Given the description of an element on the screen output the (x, y) to click on. 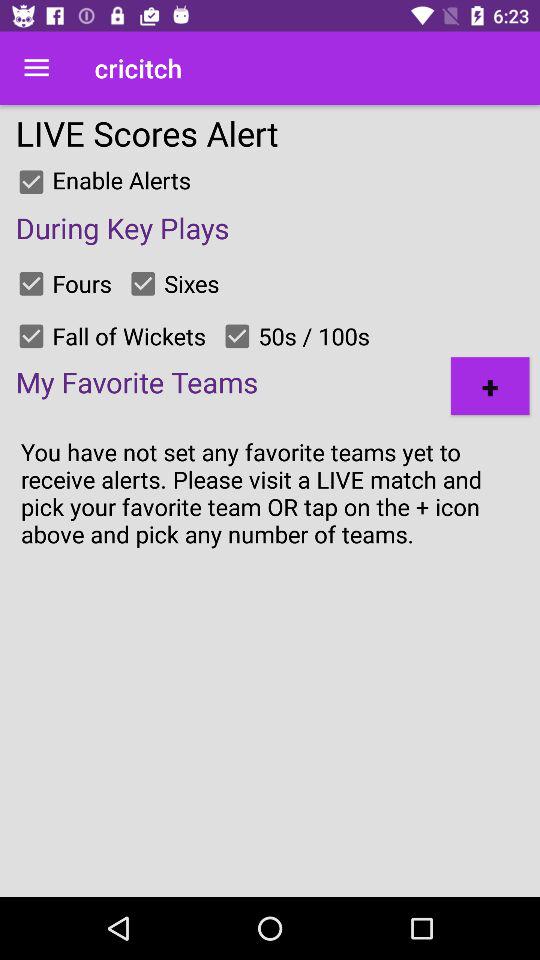
get alerts for sixes (143, 283)
